Given the description of an element on the screen output the (x, y) to click on. 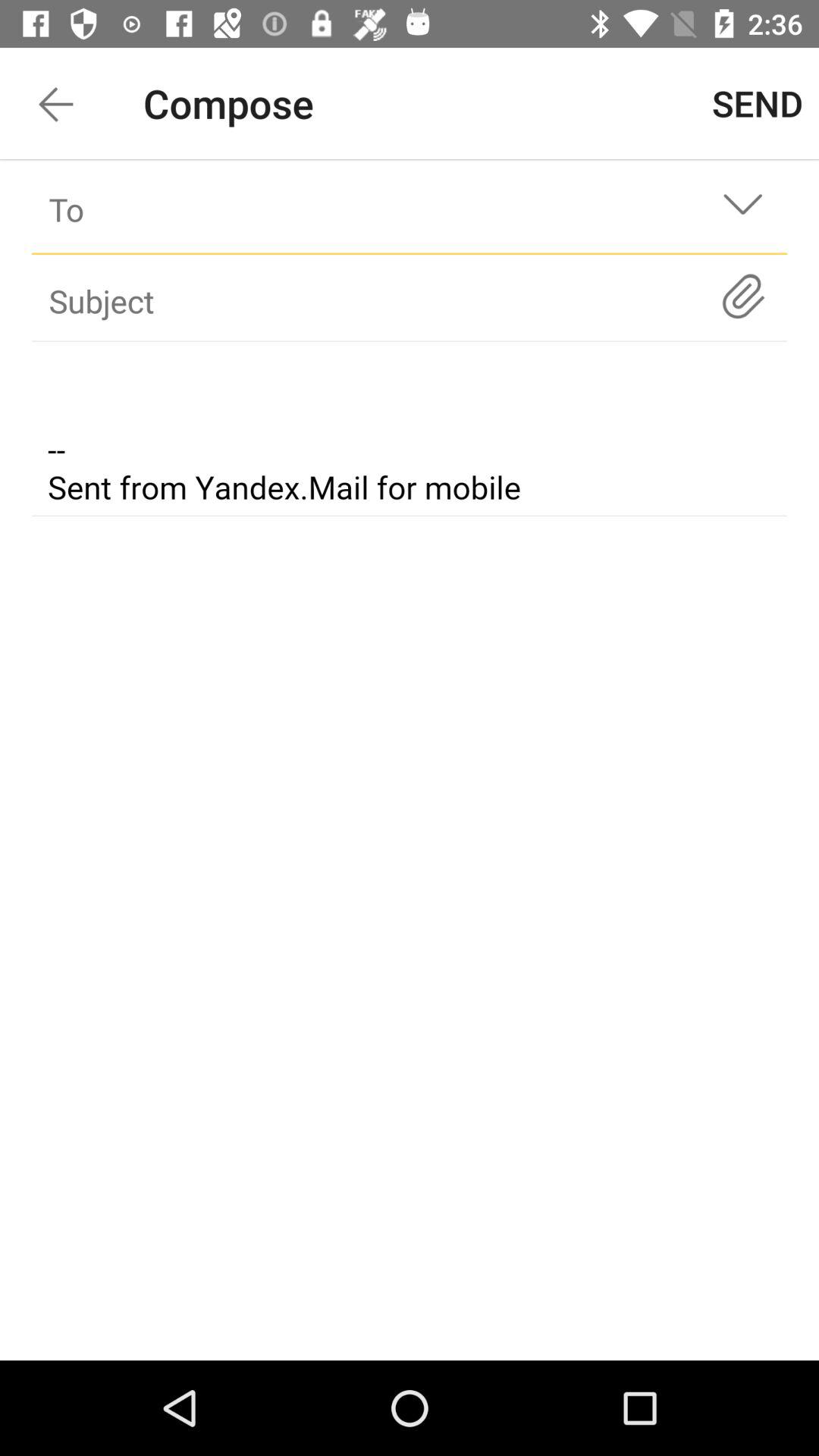
email subject (409, 431)
